Given the description of an element on the screen output the (x, y) to click on. 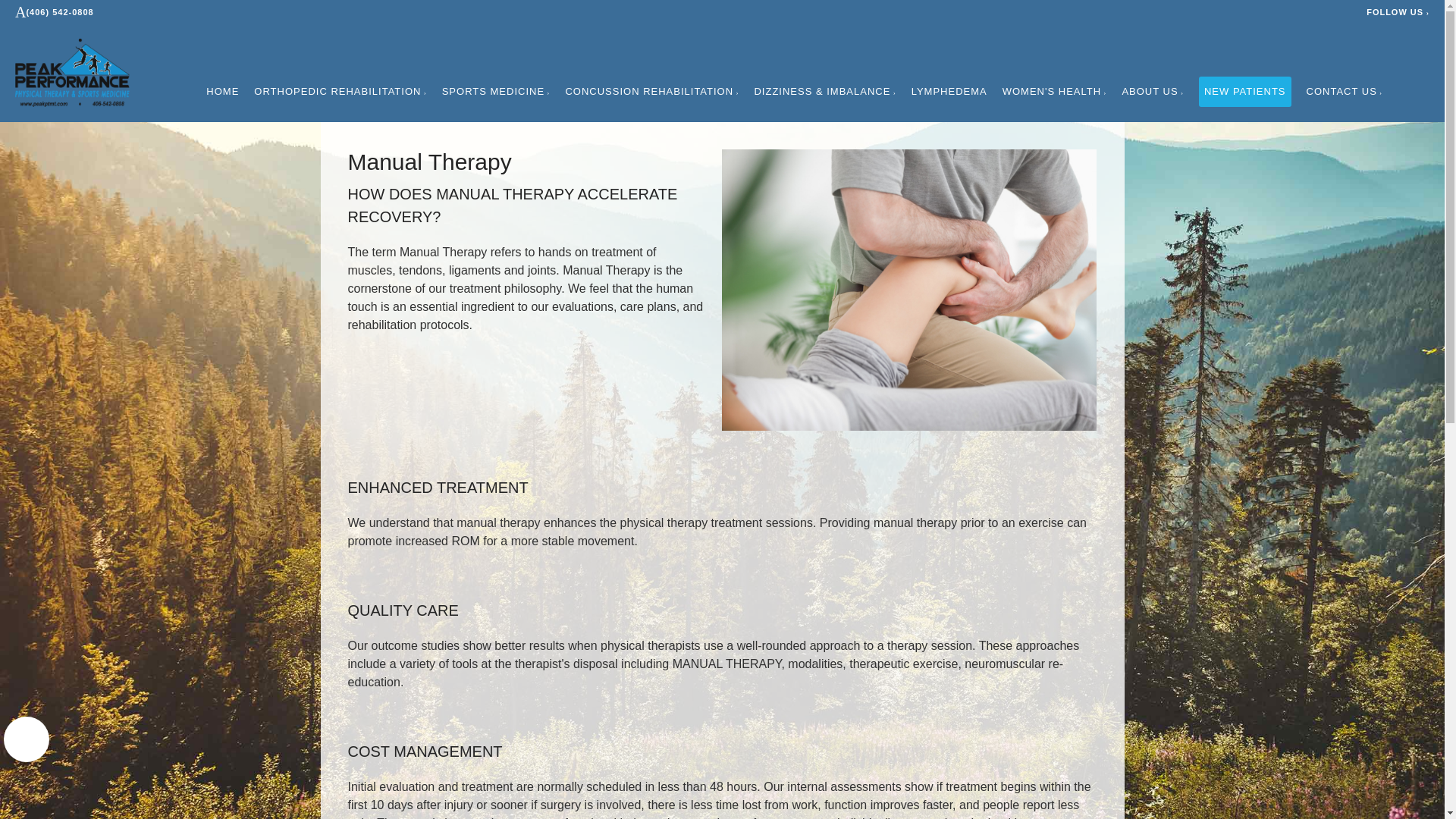
HOME (222, 91)
LYMPHEDEMA (949, 91)
